Given the description of an element on the screen output the (x, y) to click on. 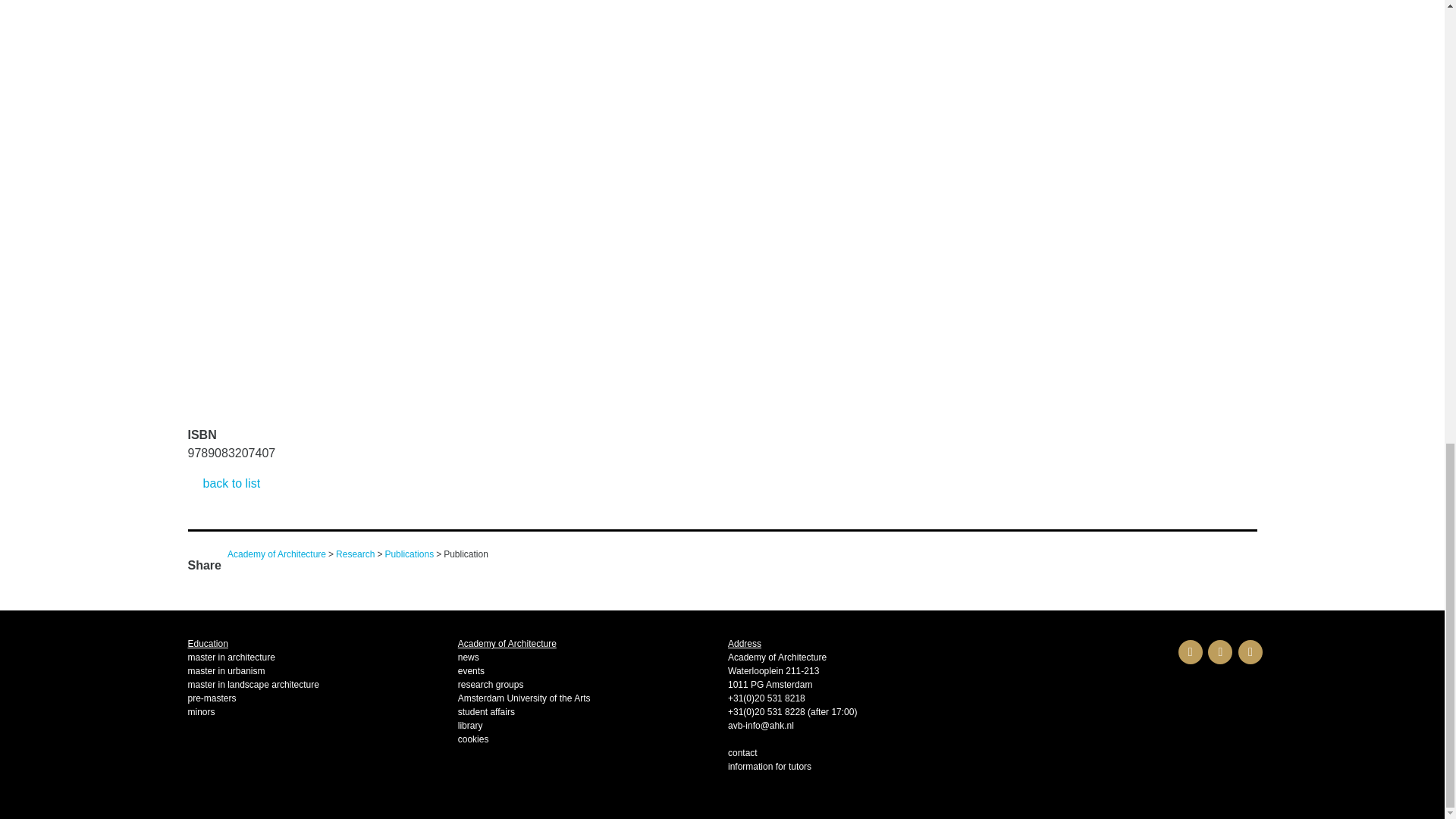
Publications (408, 553)
Academy of Architecture (276, 553)
Research (355, 553)
